Given the description of an element on the screen output the (x, y) to click on. 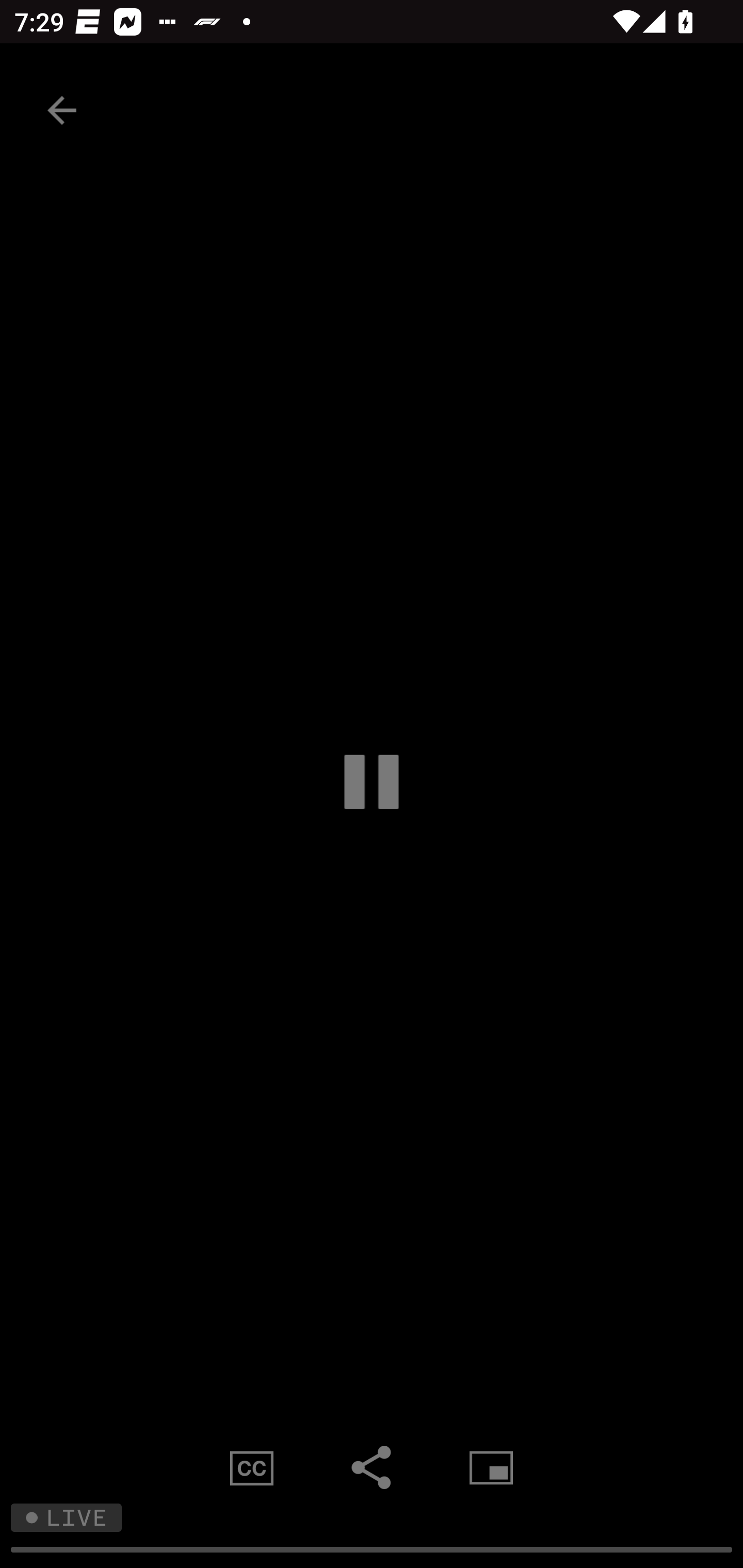
Back (61, 110)
Pause (371, 781)
Closed Captions, ON (251, 1467)
Share Media (371, 1467)
Picture in Picture Media (490, 1467)
